Given the description of an element on the screen output the (x, y) to click on. 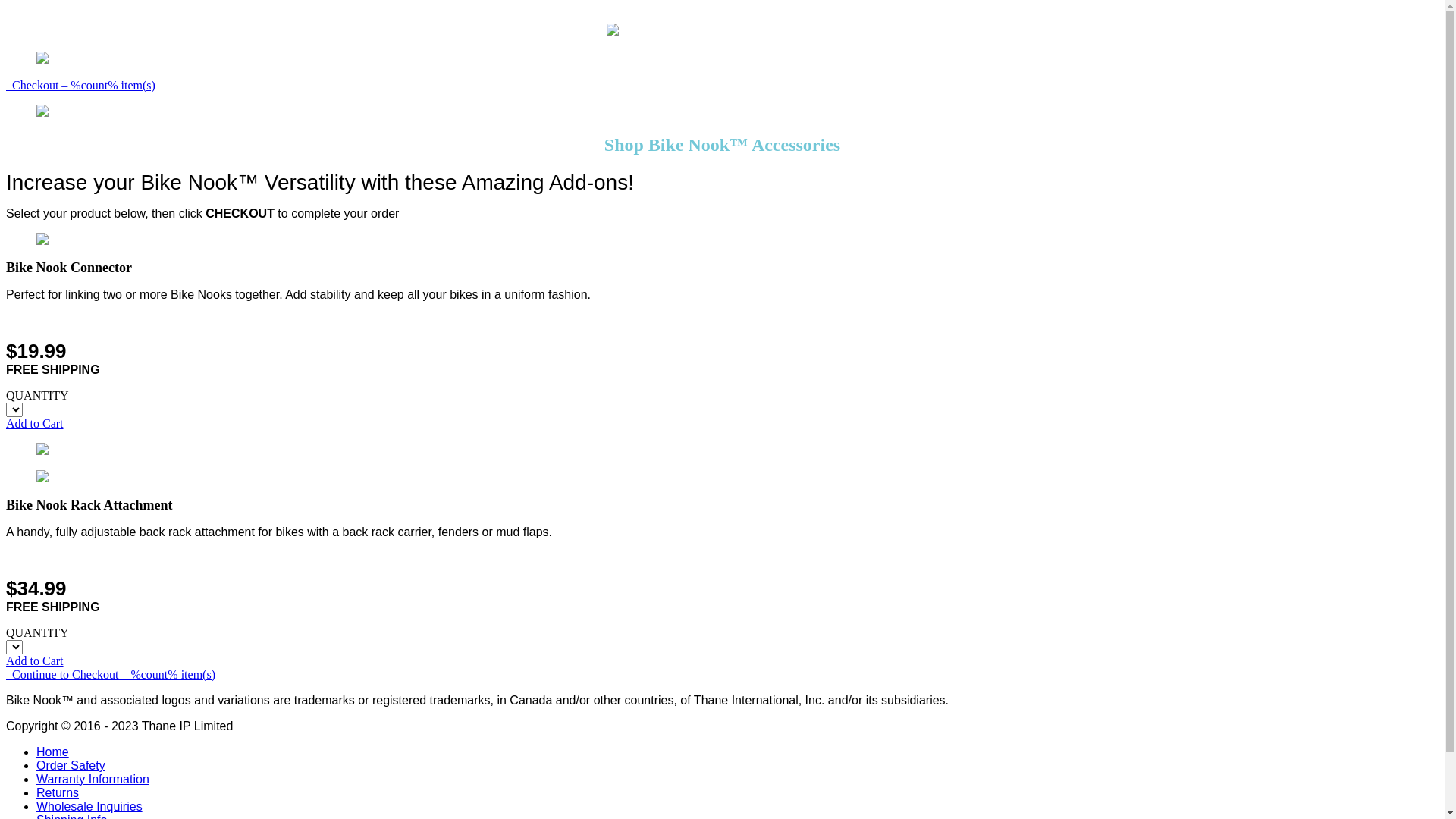
Home Element type: text (52, 751)
Wholesale Inquiries Element type: text (89, 806)
Returns Element type: text (57, 792)
Add to Cart Element type: text (34, 660)
Add to Cart Element type: text (34, 423)
Warranty Information Element type: text (92, 778)
Order Safety Element type: text (70, 765)
